Given the description of an element on the screen output the (x, y) to click on. 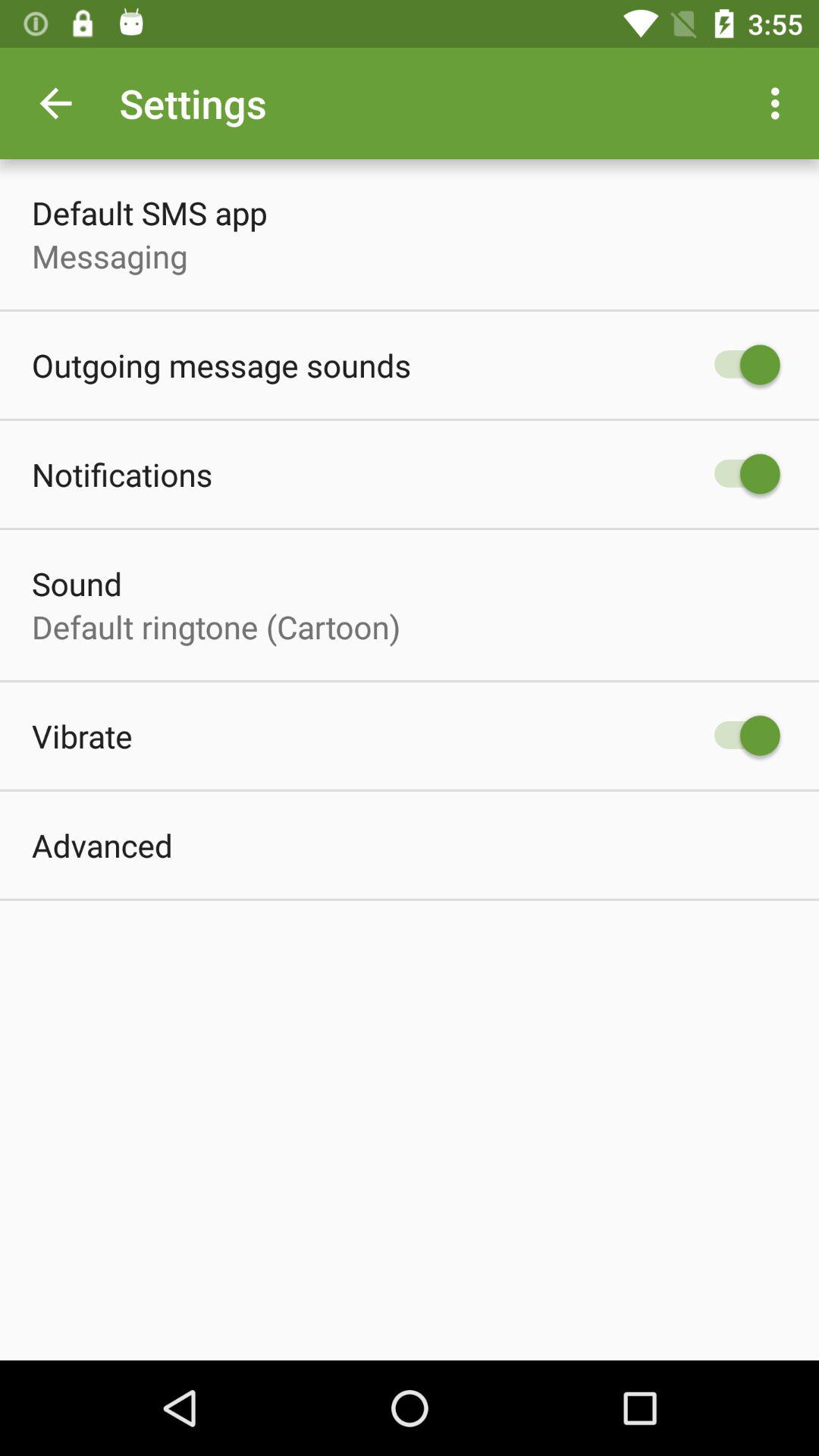
open the item above advanced icon (81, 735)
